Given the description of an element on the screen output the (x, y) to click on. 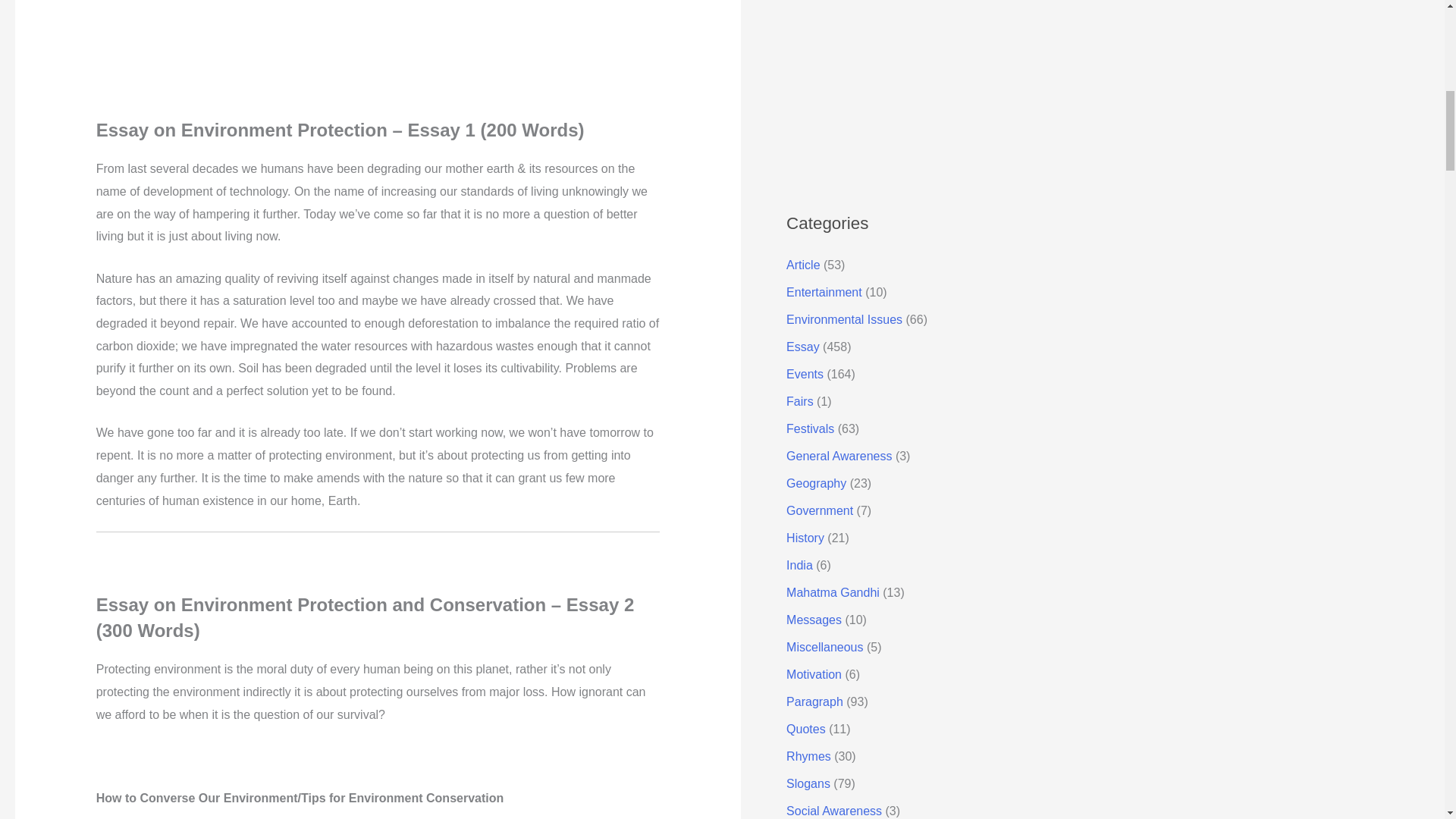
Advertisement (928, 88)
Advertisement (378, 58)
